Given the description of an element on the screen output the (x, y) to click on. 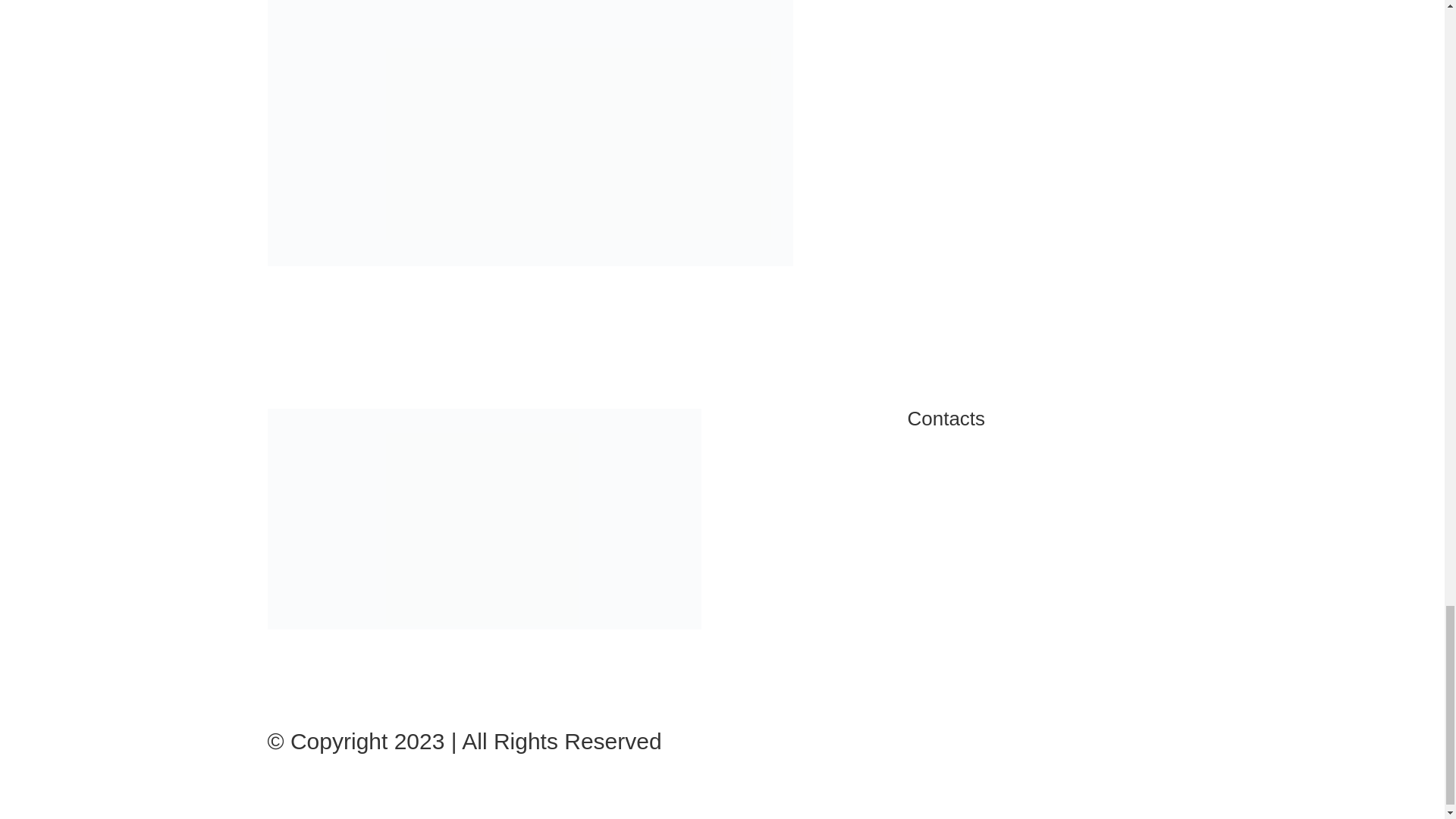
Asset 4streit (483, 518)
Follow on Youtube (369, 666)
Follow on Instagram (339, 666)
Follow on X (309, 666)
Follow on Facebook (278, 666)
Follow on LinkedIn (400, 666)
